Given the description of an element on the screen output the (x, y) to click on. 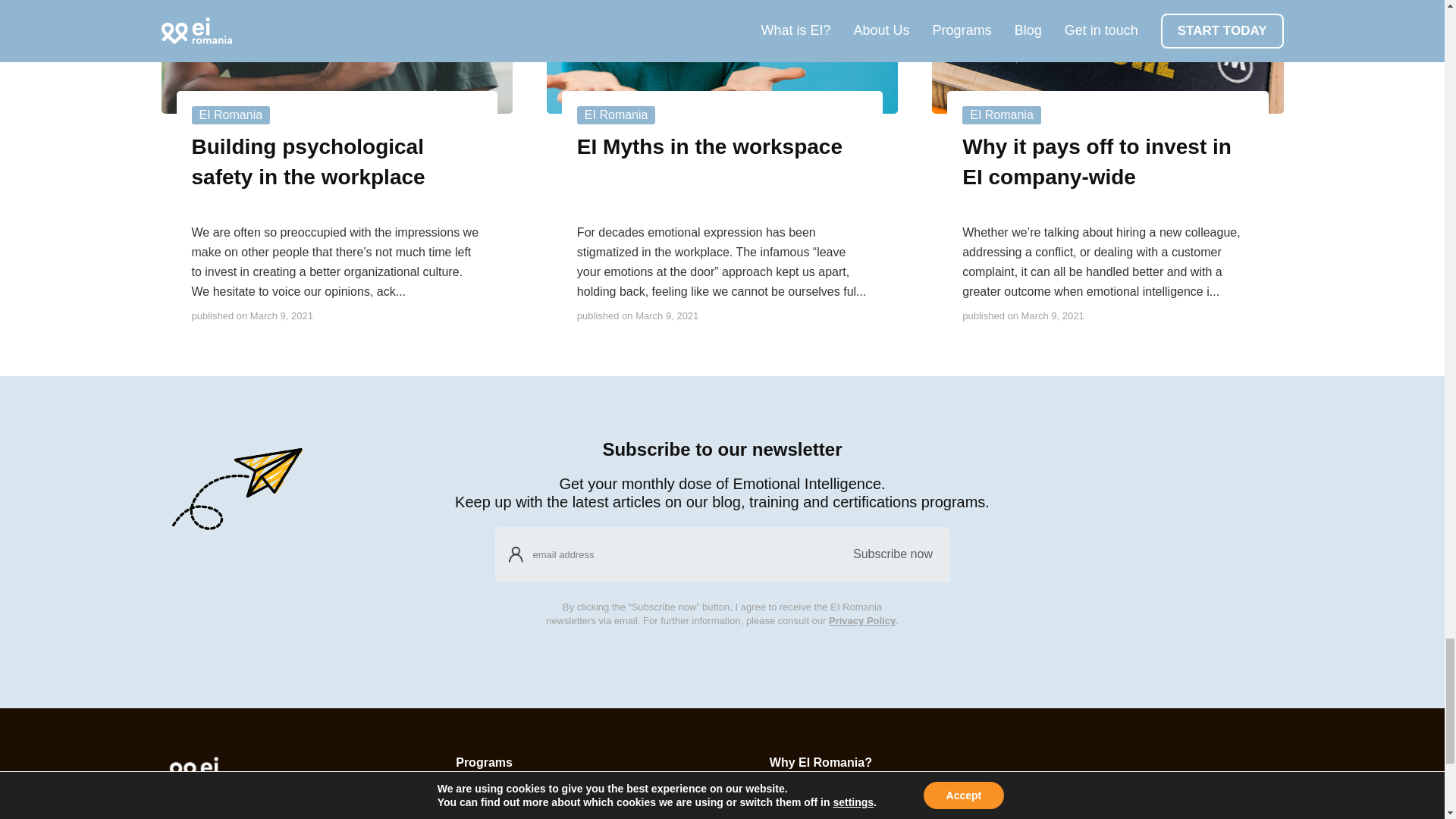
Building psychological safety in the workplace (335, 161)
Subscribe now (892, 554)
Genos All Access (550, 797)
EI Myths in the workspace (709, 157)
Why it pays off to invest in EI company-wide (1107, 161)
Privacy Policy (861, 620)
Genos EI Practitioner (550, 817)
Subscribe now (892, 554)
